Given the description of an element on the screen output the (x, y) to click on. 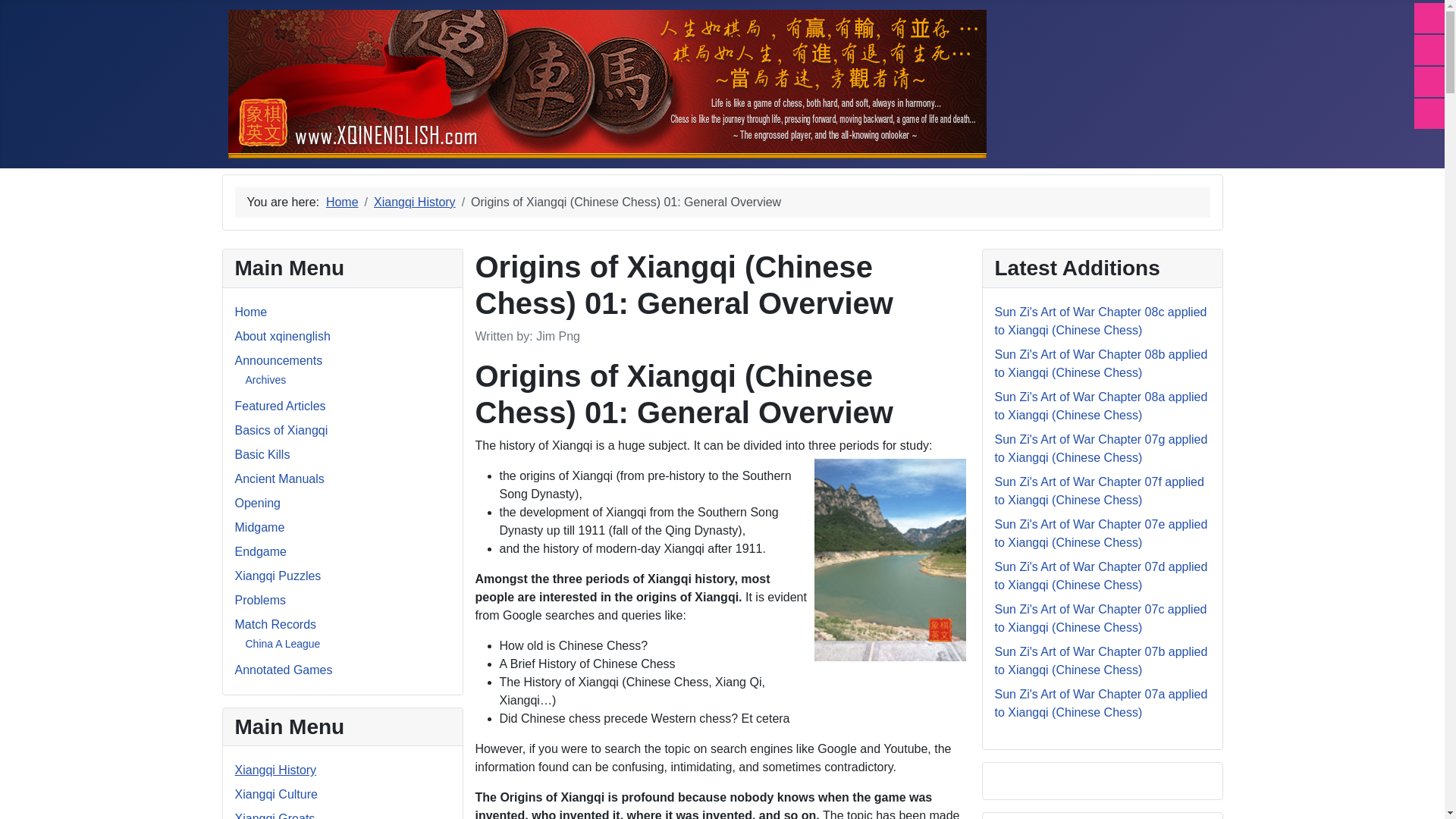
Basics of Xiangqi (281, 430)
Endgame (260, 551)
Opening (257, 502)
Home (250, 311)
Xiangqi History (275, 769)
Problems (260, 599)
Announcements (278, 359)
Annotated Games (283, 669)
Ancient Manuals (279, 478)
China A League (283, 644)
Match Records (275, 624)
Featured Articles (280, 405)
Xiangqi Culture (275, 793)
Archives (266, 379)
Xiangqi Greats (274, 815)
